Given the description of an element on the screen output the (x, y) to click on. 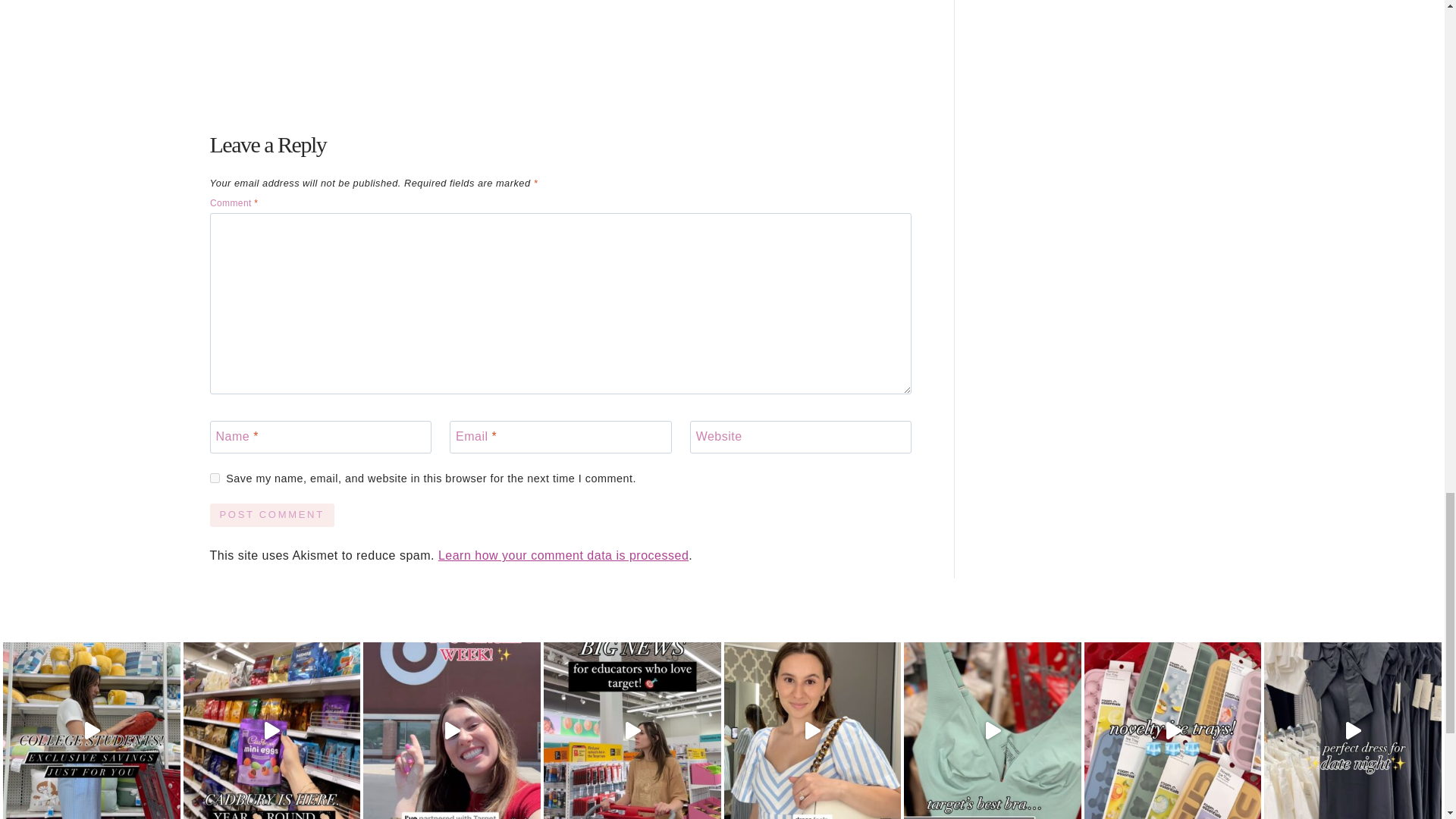
yes (214, 478)
Post Comment (271, 515)
